Given the description of an element on the screen output the (x, y) to click on. 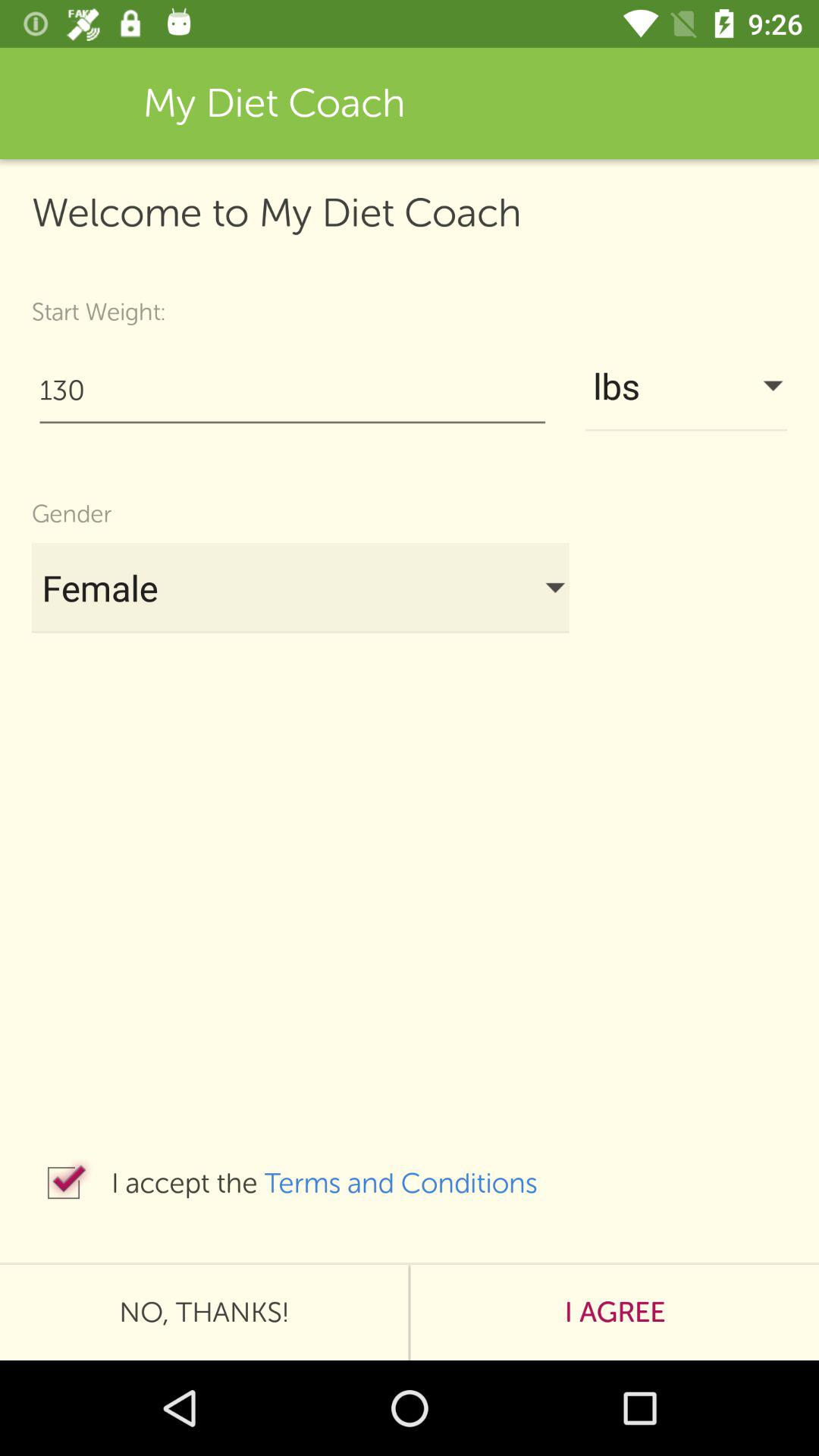
swipe to the i agree icon (614, 1312)
